Given the description of an element on the screen output the (x, y) to click on. 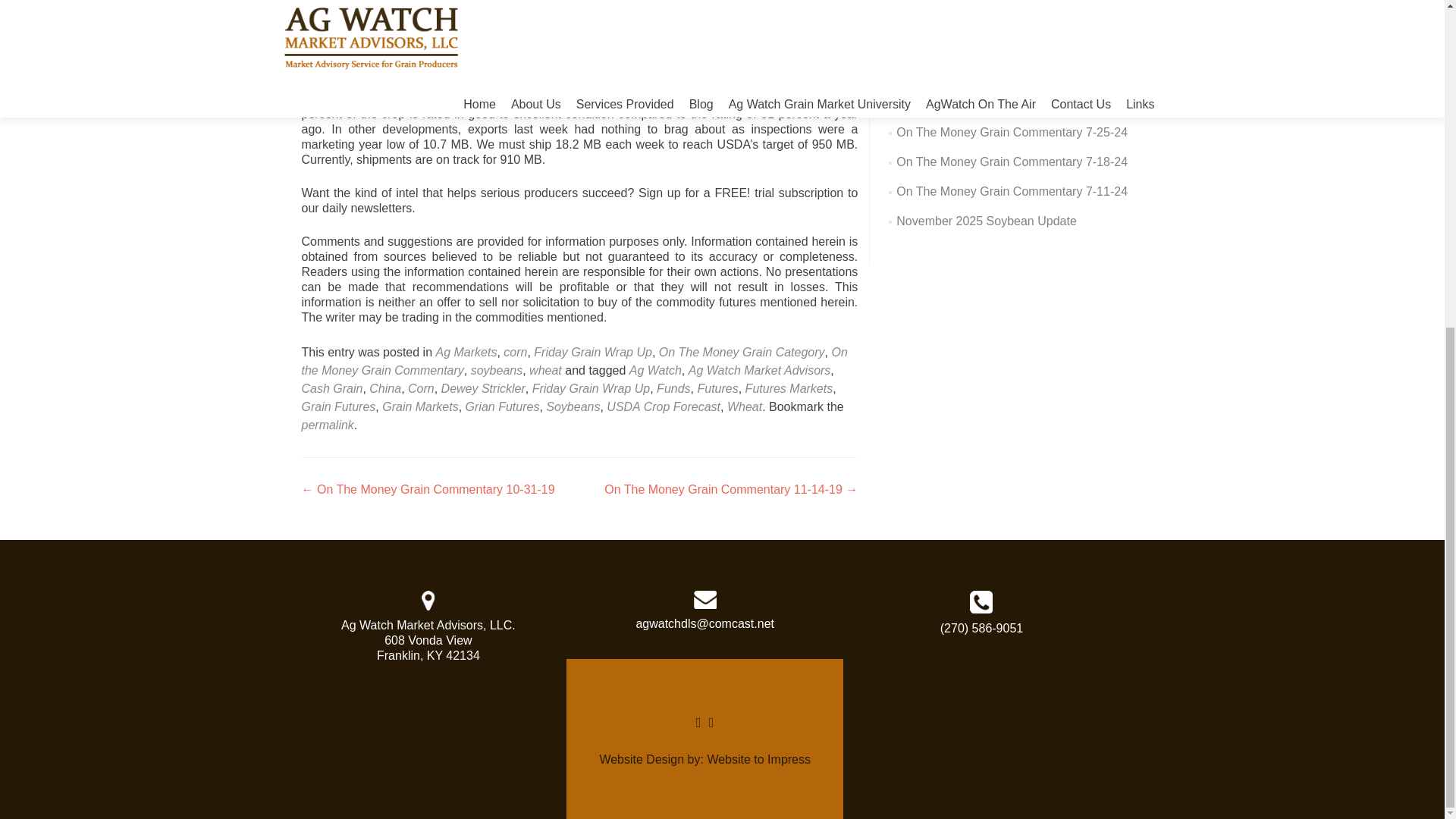
On The Money Grain Category (742, 351)
On the Money Grain Commentary (574, 360)
corn (515, 351)
soybeans (496, 369)
Corn (420, 388)
Grain Futures (338, 406)
Ag Watch (654, 369)
Grian Futures (502, 406)
Soybeans (572, 406)
Search (1116, 10)
